Given the description of an element on the screen output the (x, y) to click on. 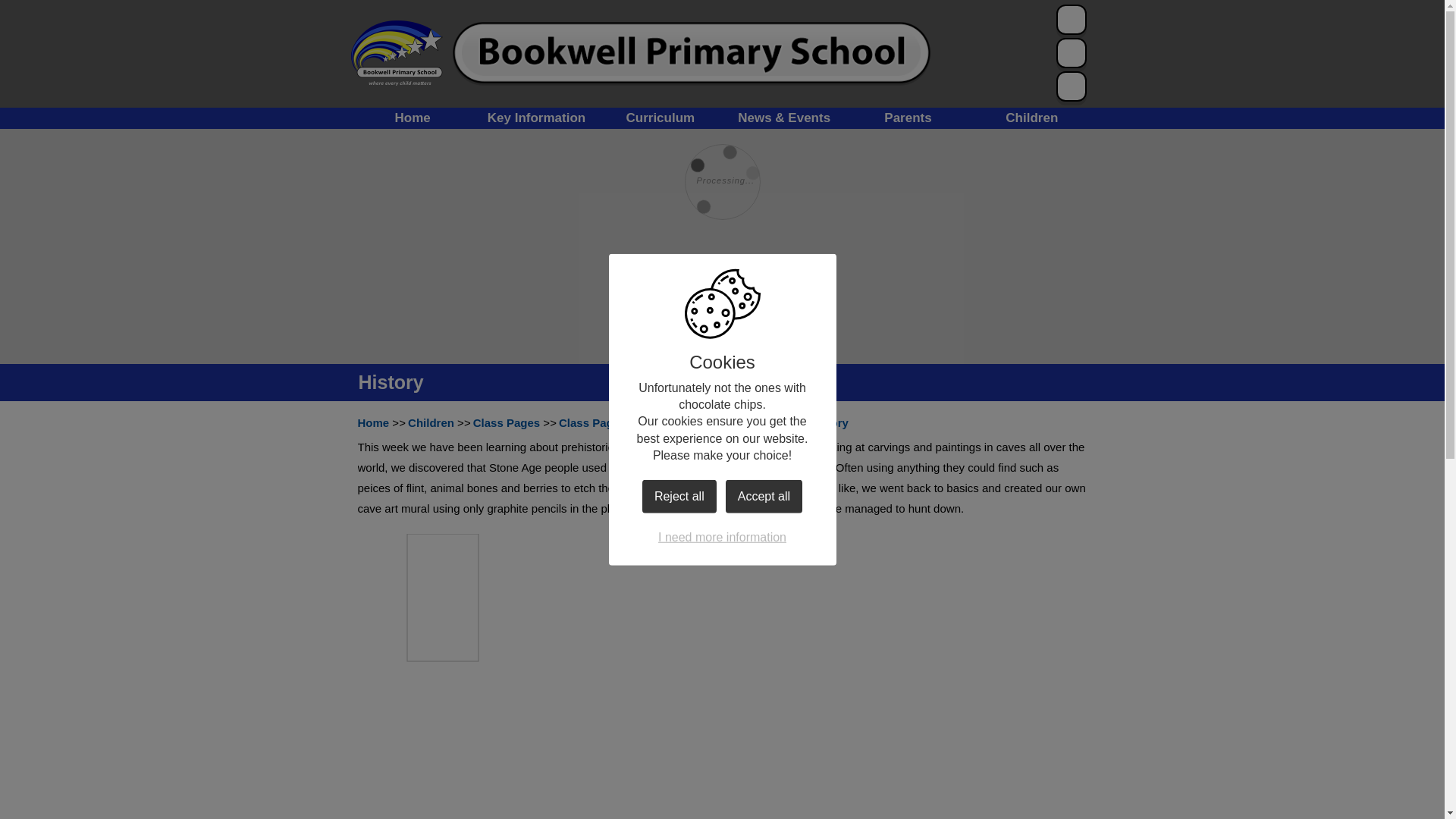
Bookwell Primary School (396, 52)
Bookwell Primary School (691, 52)
Home (412, 117)
Curriculum (660, 117)
Log In (1076, 19)
Key Information (536, 117)
